Given the description of an element on the screen output the (x, y) to click on. 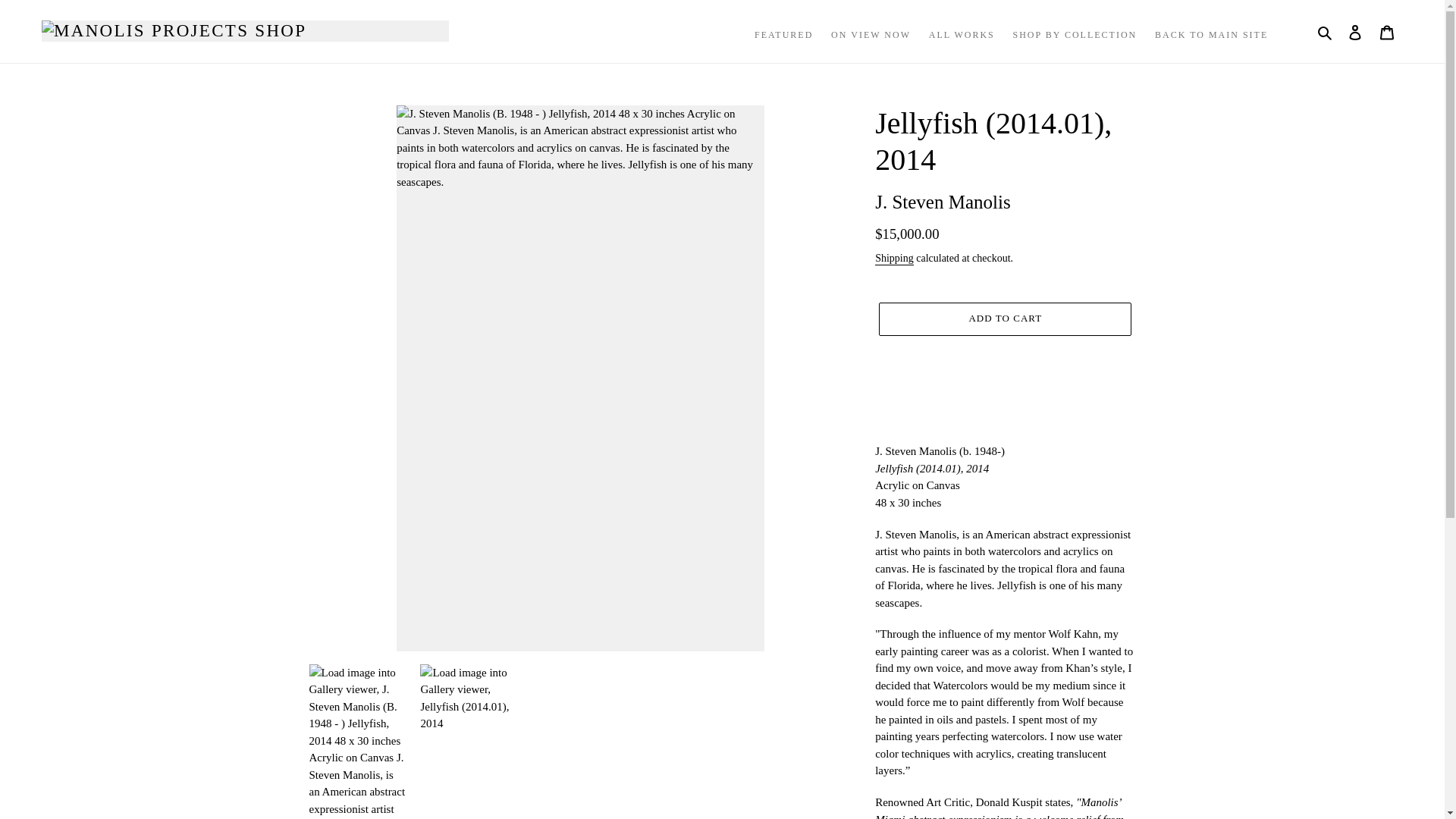
ADD TO CART (1005, 318)
Cart (1387, 31)
SHOP BY COLLECTION (1074, 34)
Log in (1355, 31)
ALL WORKS (962, 34)
Shipping (894, 258)
ON VIEW NOW (871, 34)
BACK TO MAIN SITE (1211, 34)
Search (1326, 31)
FEATURED (783, 34)
